Given the description of an element on the screen output the (x, y) to click on. 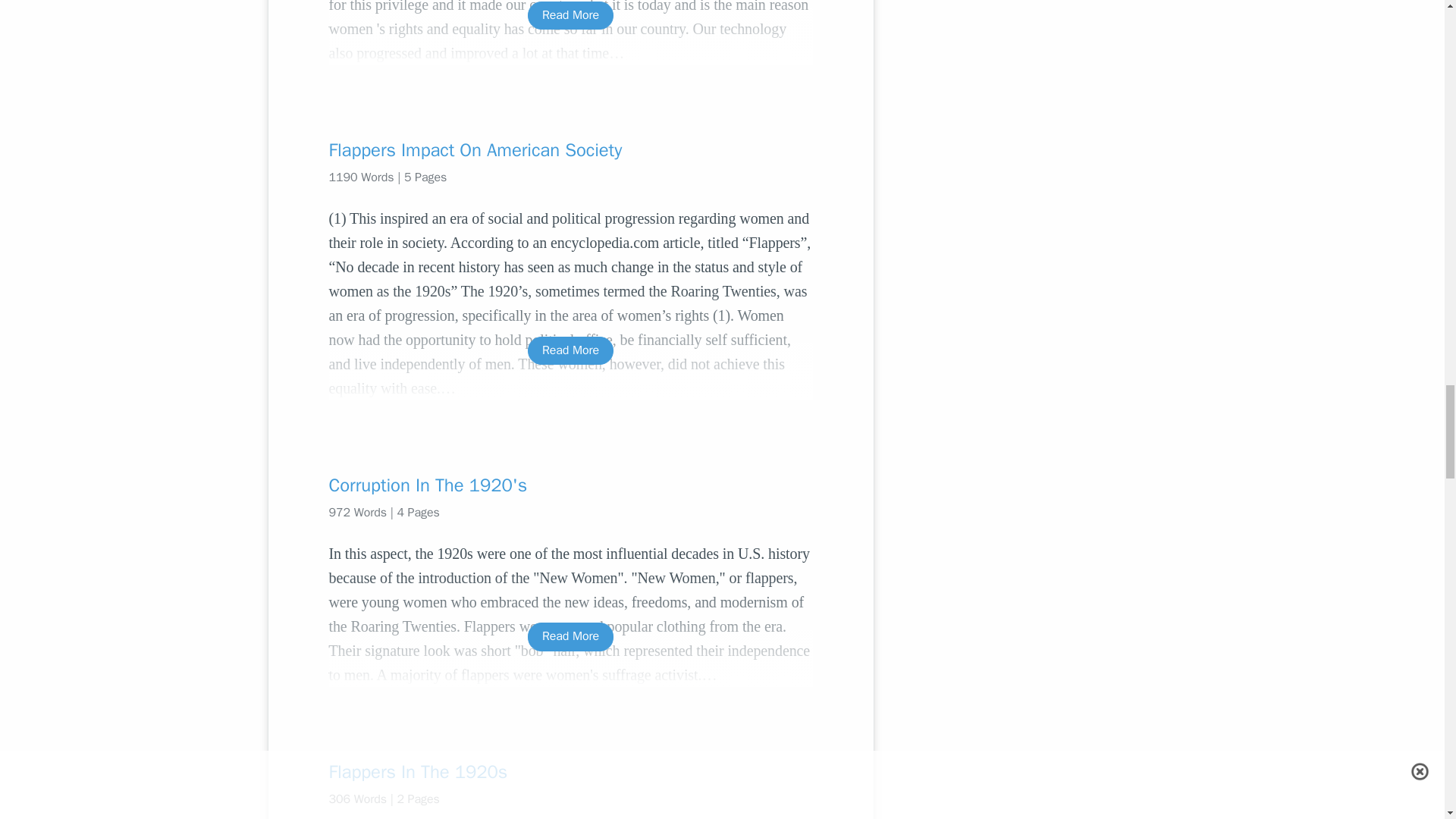
Corruption In The 1920's (570, 485)
Flappers In The 1920s (570, 771)
Read More (569, 15)
Read More (569, 636)
Read More (569, 350)
Flappers Impact On American Society (570, 150)
